Given the description of an element on the screen output the (x, y) to click on. 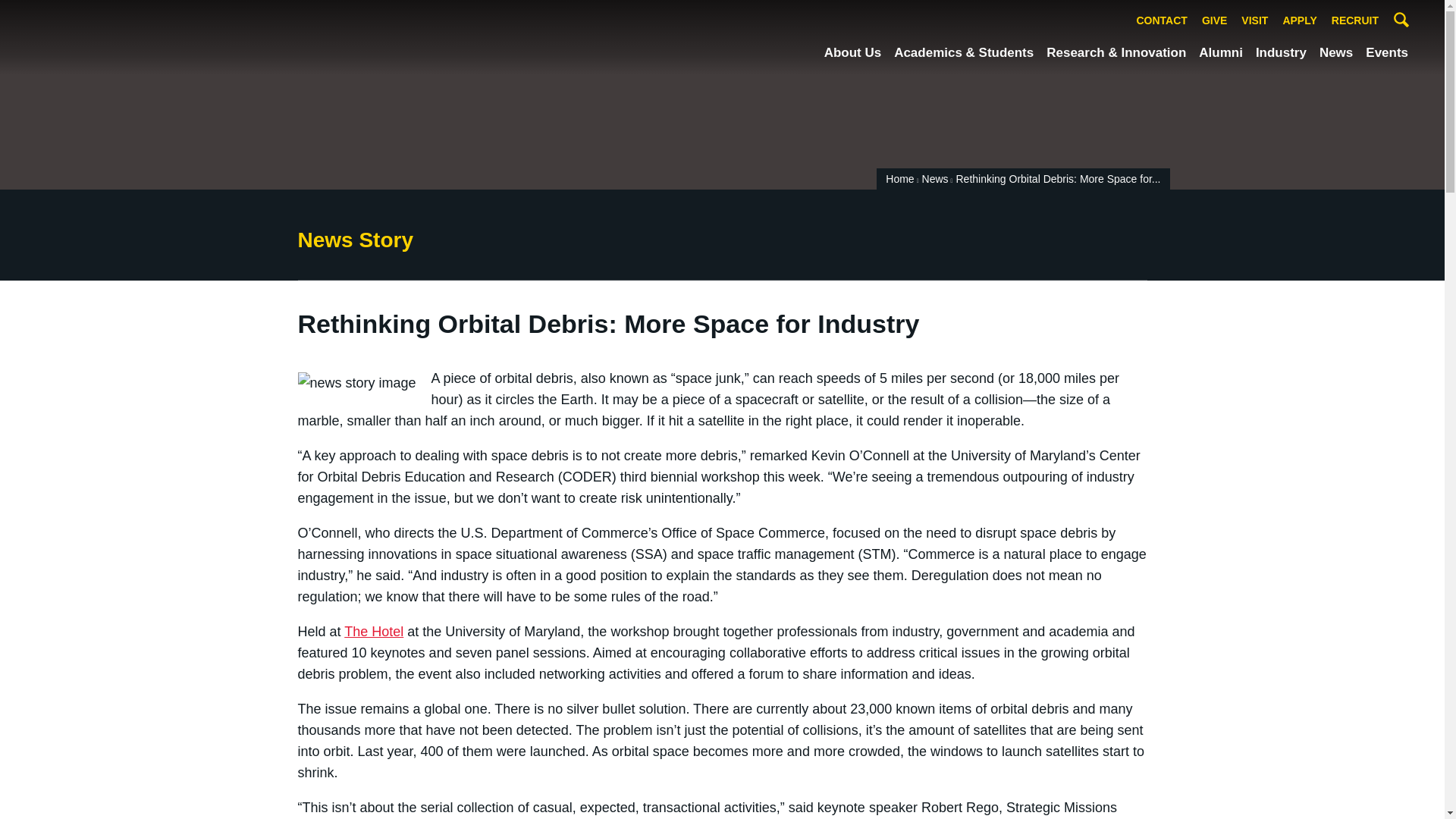
CONTACT (1161, 21)
About Us (852, 53)
RECRUIT (1355, 21)
A. James Clark School of Engineering (128, 36)
VISIT (1254, 21)
APPLY (1299, 21)
GIVE (1213, 21)
